Given the description of an element on the screen output the (x, y) to click on. 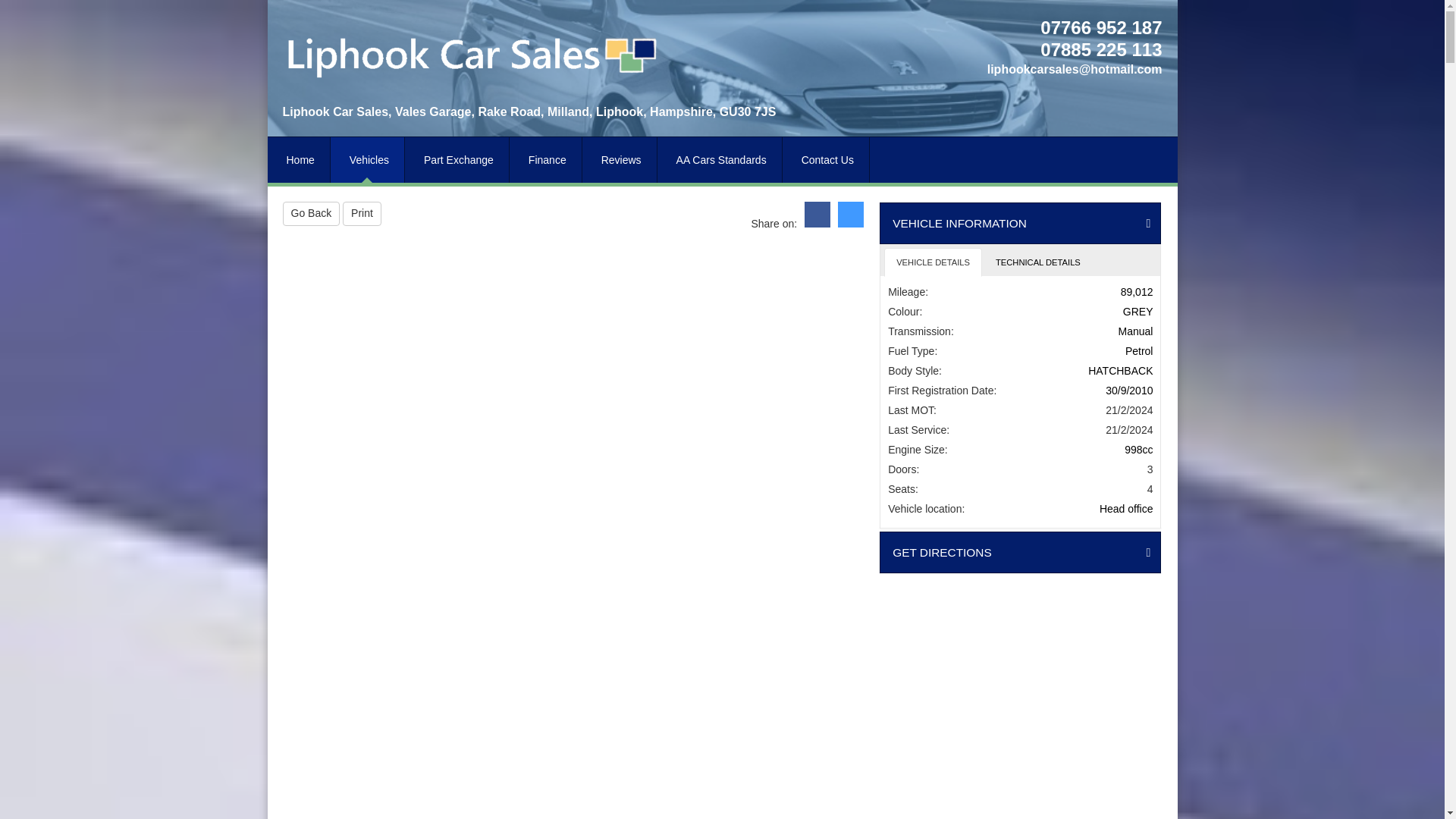
Contact Us (826, 159)
AA Cars Standards (720, 159)
AA Cars Standards (720, 159)
Contact Us (826, 159)
Part Exchange (456, 159)
Home (298, 159)
Reviews (620, 159)
Finance (545, 159)
Go Back (310, 213)
Vehicles (367, 159)
Home (298, 159)
Liphook Car Sales (471, 51)
Finance (545, 159)
07885 225 113 (1096, 51)
Vehicles (367, 159)
